Given the description of an element on the screen output the (x, y) to click on. 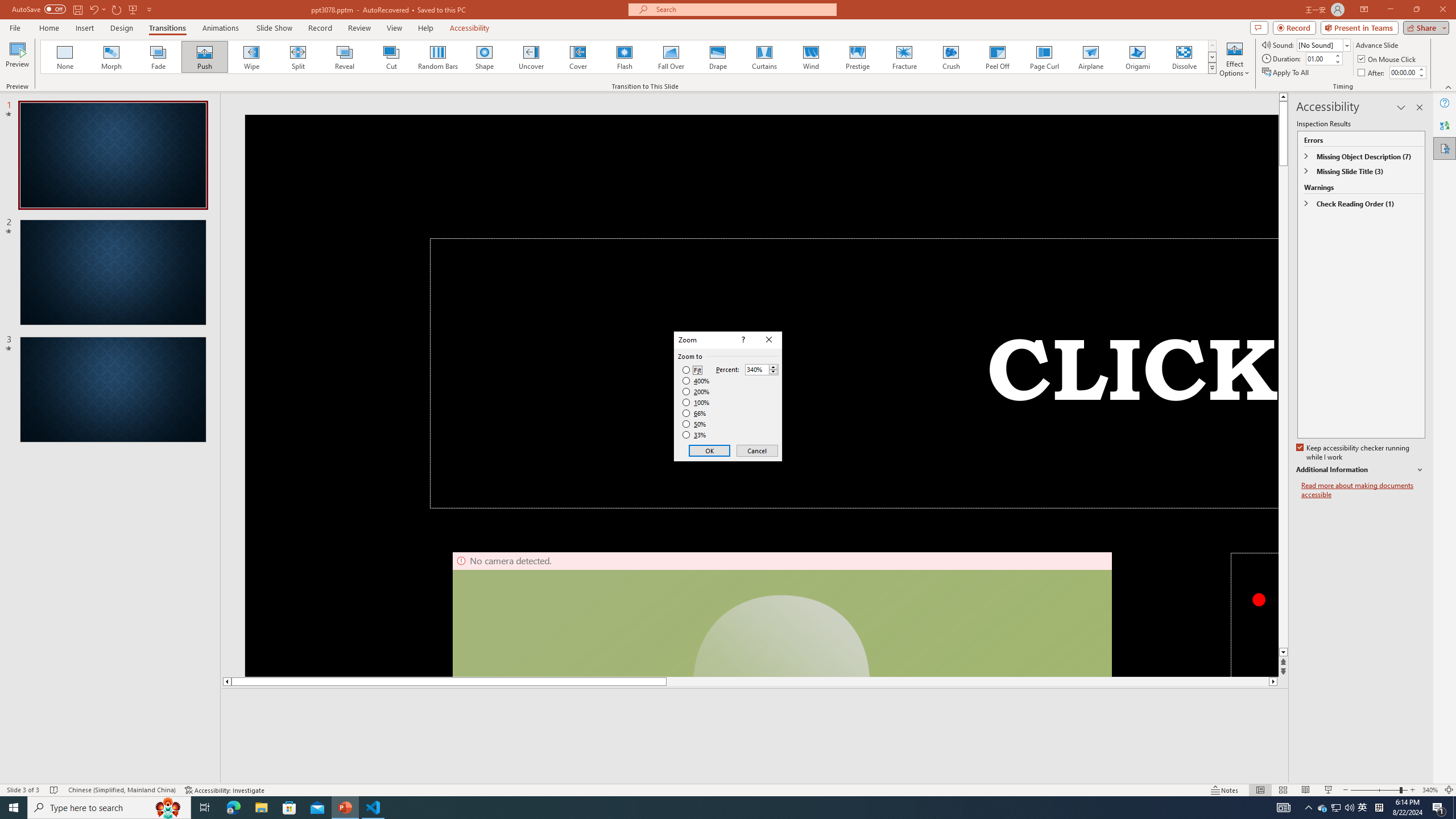
Origami (1136, 56)
Fit (691, 370)
